Given the description of an element on the screen output the (x, y) to click on. 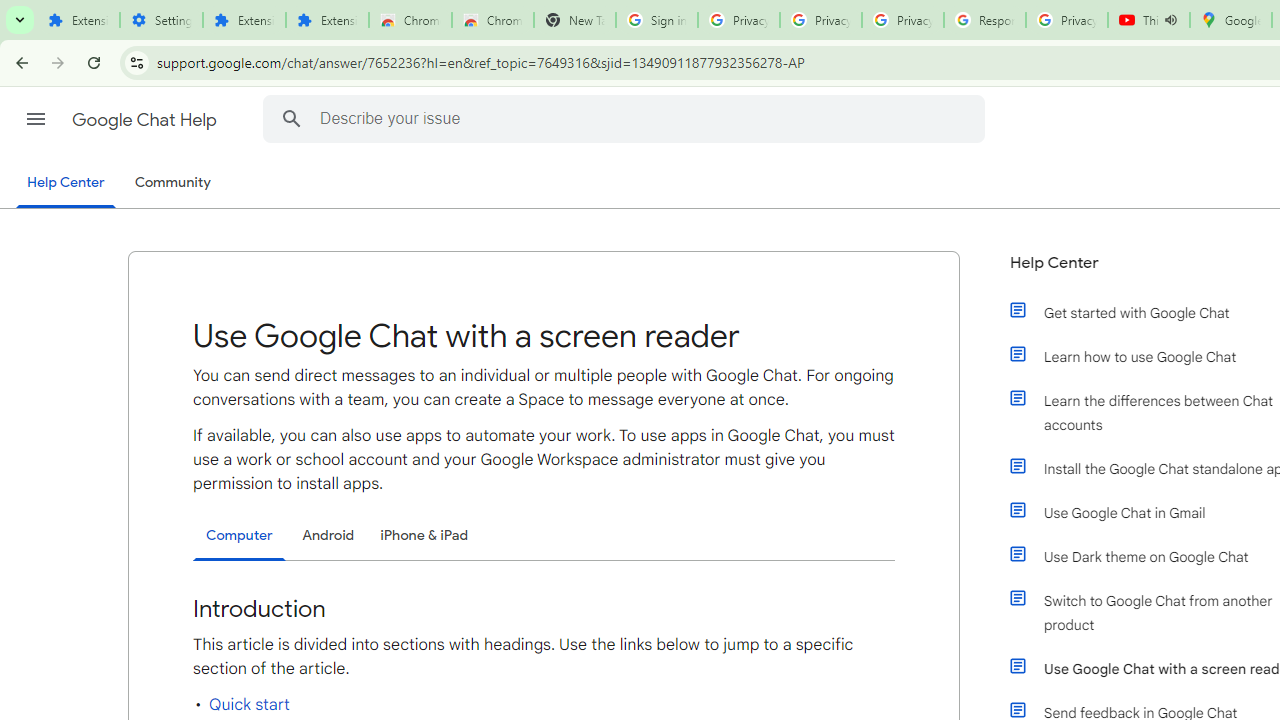
iPhone & iPad (424, 534)
Sign in - Google Accounts (656, 20)
Computer (239, 535)
Android (328, 534)
Quick start (249, 704)
Extensions (244, 20)
